Given the description of an element on the screen output the (x, y) to click on. 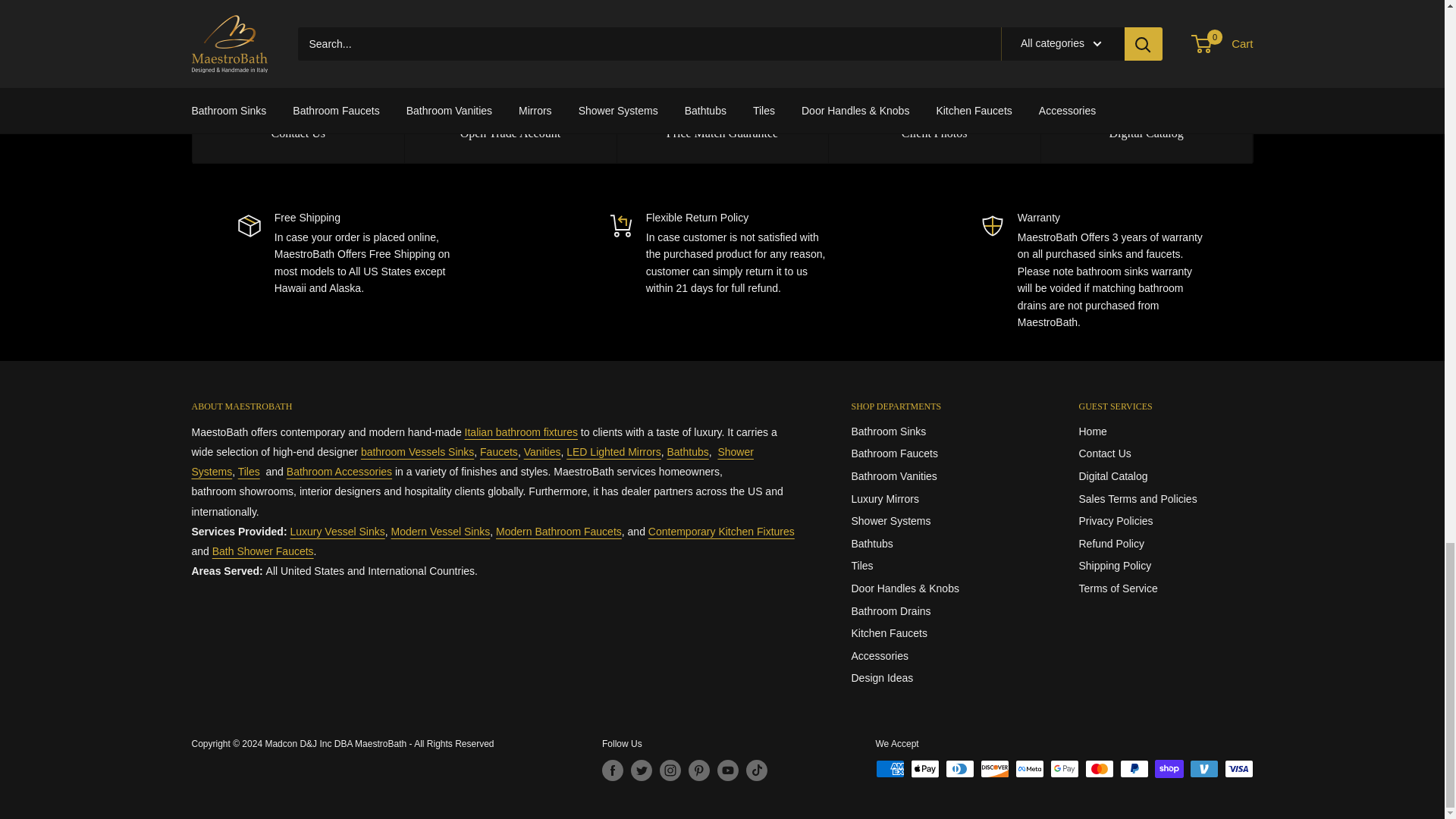
Luxury Mirrors (613, 451)
Shower Systems (471, 461)
Vessel Sinks (417, 451)
Shower Systems (263, 551)
Luxury Vessel Sinks (336, 531)
Accessories and Hardware (338, 471)
Bathroom Vanities (542, 451)
All Bathroom Faucets (558, 531)
Bathtubs (687, 451)
Bathroom Faucets (499, 451)
Kitchen Faucets (720, 531)
Vessel Sinks (440, 531)
Tiles (249, 471)
